Given the description of an element on the screen output the (x, y) to click on. 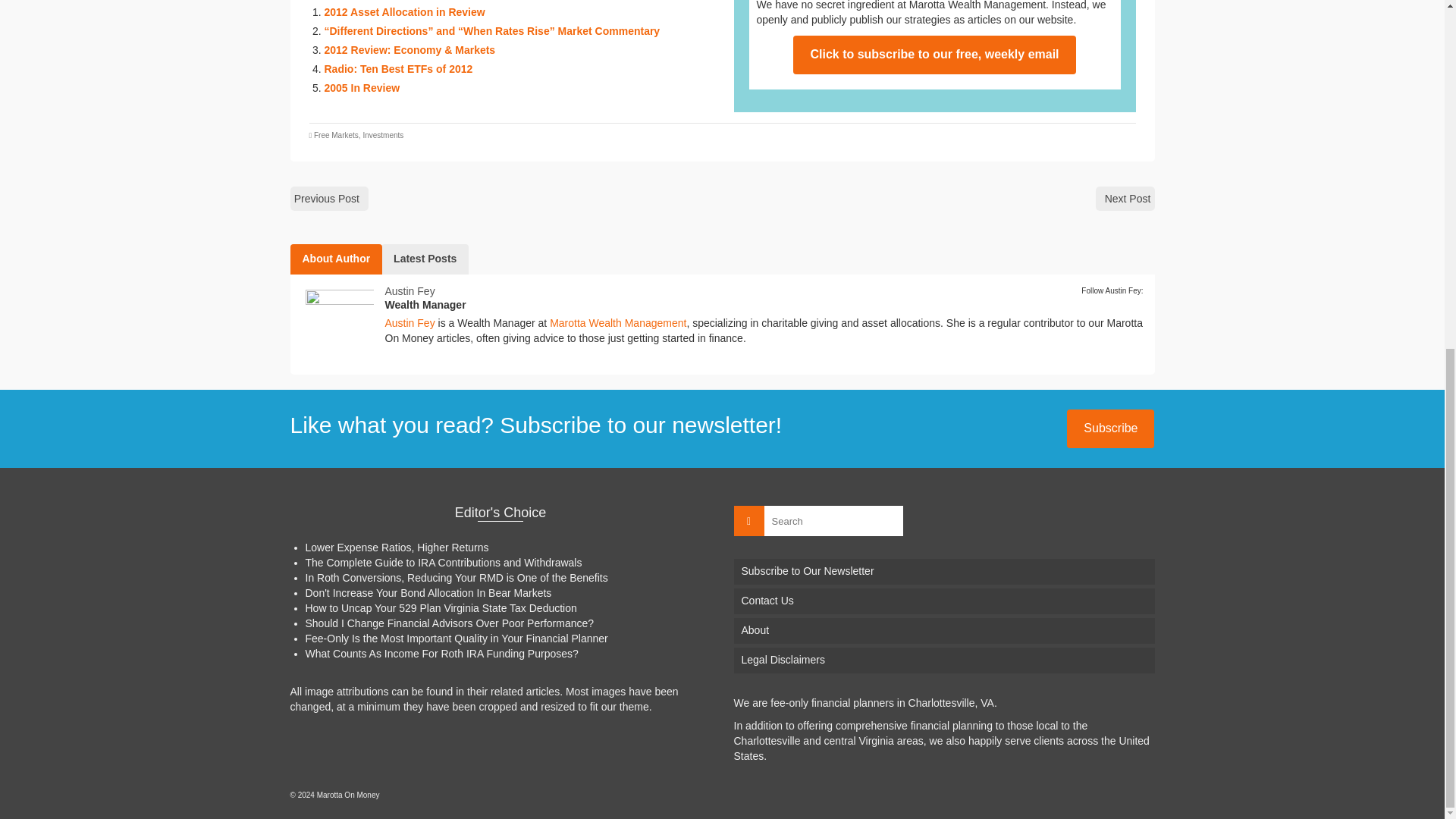
The Complete Guide to IRA Contributions and Withdrawals (442, 562)
Should I Change Financial Advisors Over Poor Performance? (449, 623)
Don't Increase Your Bond Allocation In Bear Markets (427, 592)
Radio: Ten Best ETFs of 2012 (398, 69)
2005 In Review (362, 87)
2012 Asset Allocation in Review (404, 11)
How to Uncap Your 529 Plan Virginia State Tax Deduction (440, 607)
Lower Expense Ratios, Higher Returns (395, 547)
